Given the description of an element on the screen output the (x, y) to click on. 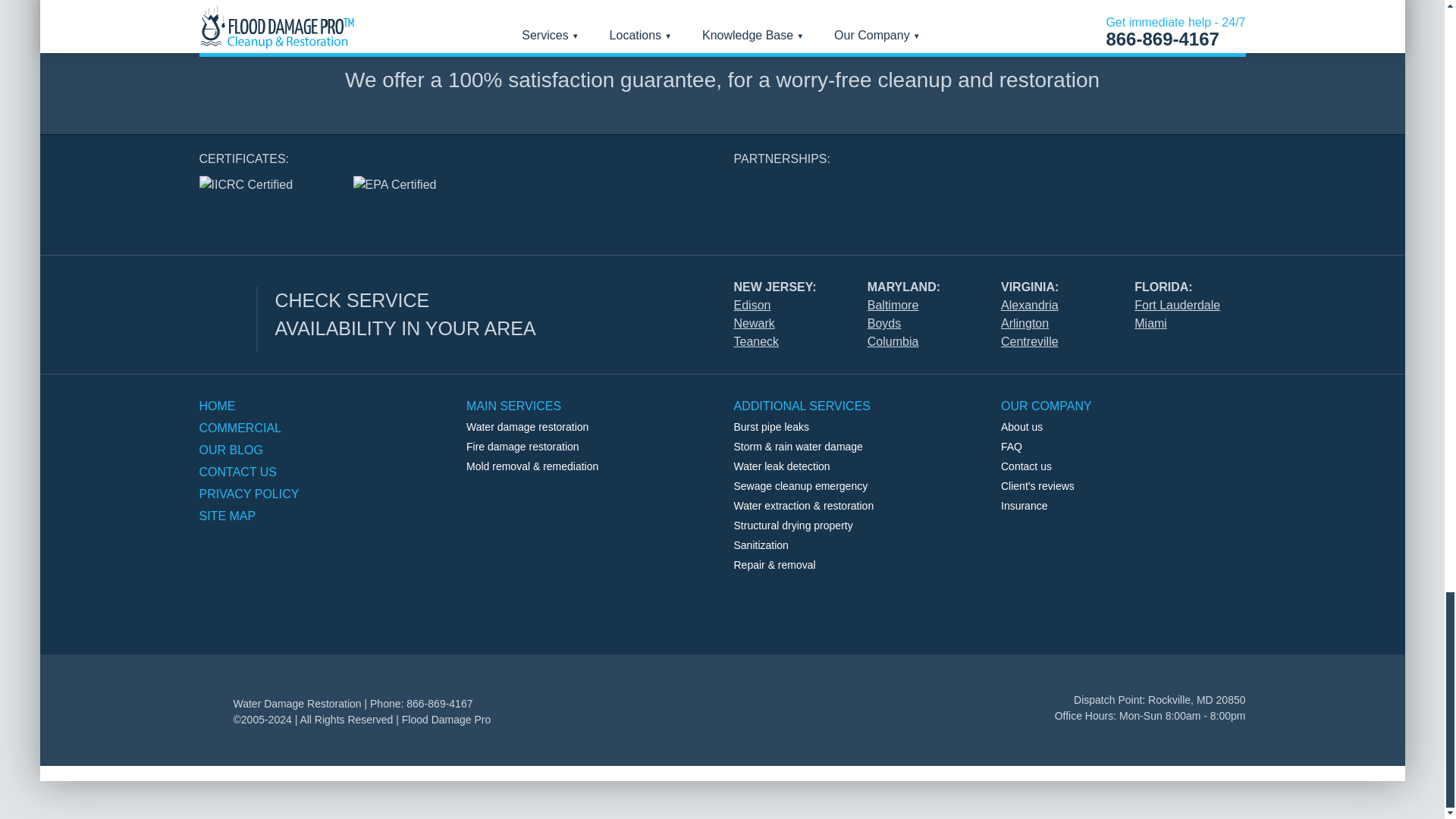
866-869-4167 (722, 32)
EPA Certified (408, 194)
Newark (753, 323)
Edison (752, 305)
Teaneck (755, 341)
Baltimore (892, 305)
Boyds (884, 323)
IICRC Certified (264, 194)
